Given the description of an element on the screen output the (x, y) to click on. 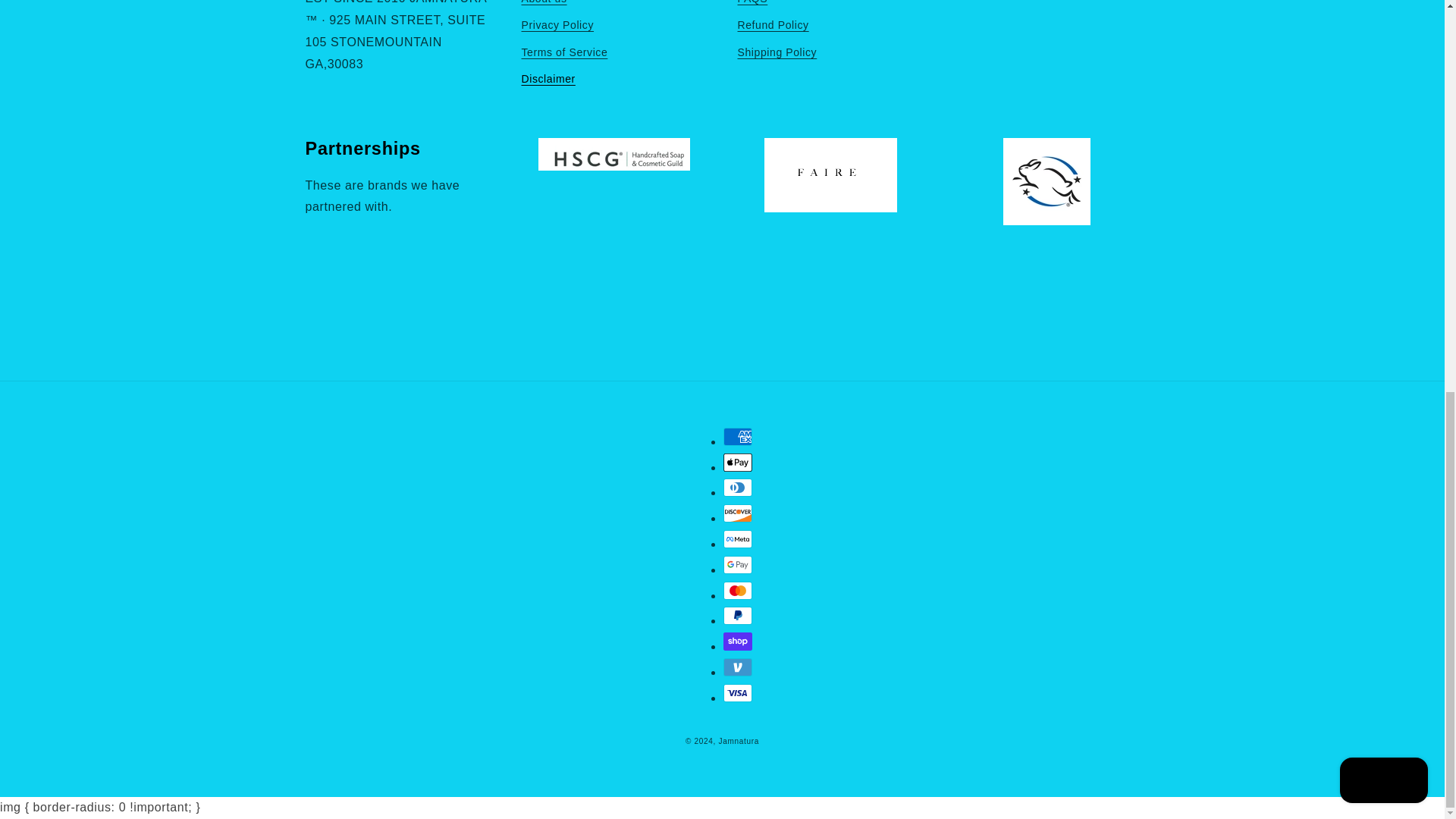
Google Pay (737, 565)
Shop Pay (737, 641)
PayPal (737, 615)
American Express (737, 436)
Mastercard (737, 590)
Discover (737, 513)
Venmo (737, 667)
Apple Pay (737, 462)
Meta Pay (737, 538)
Visa (737, 692)
